Given the description of an element on the screen output the (x, y) to click on. 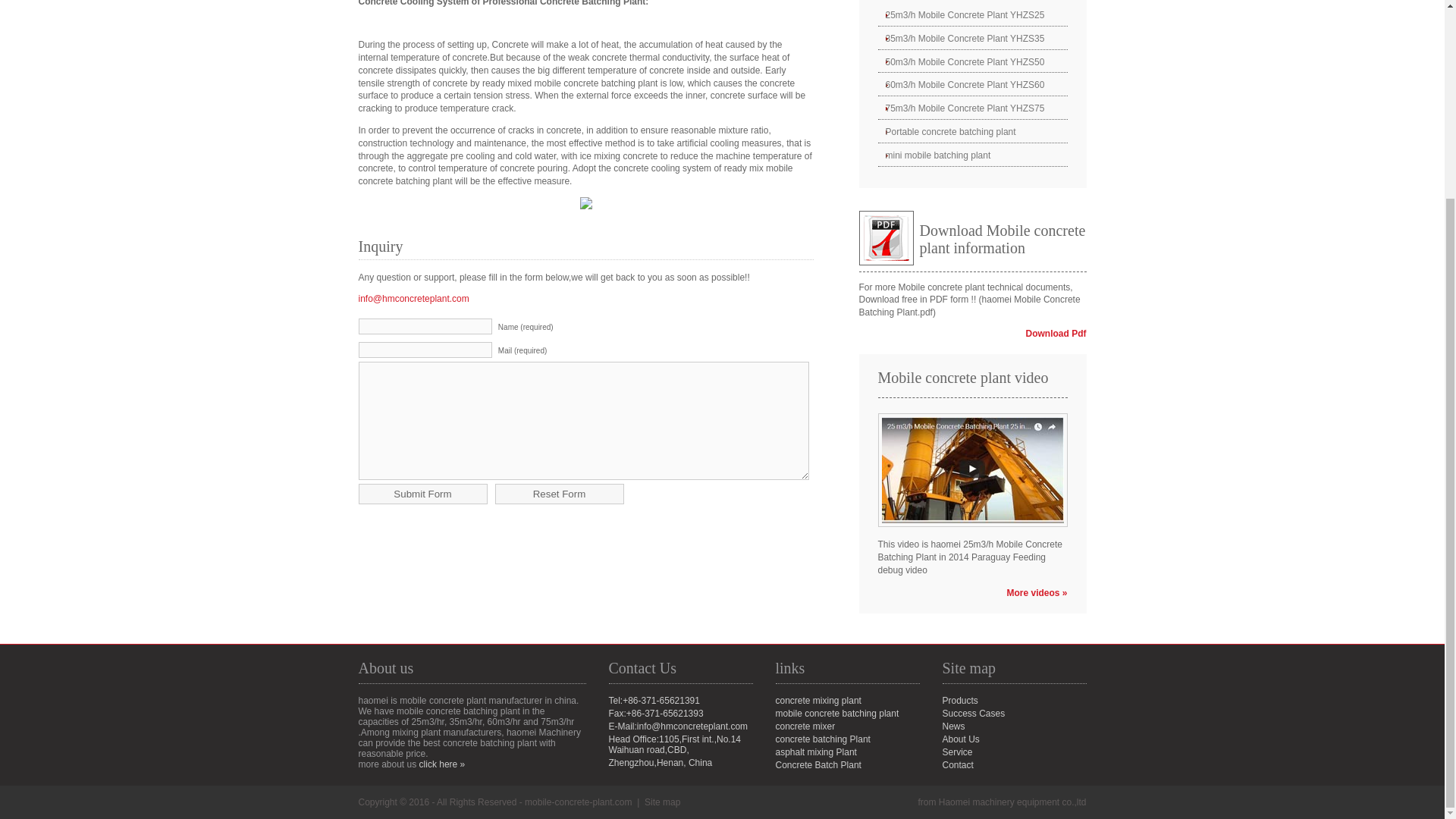
Success Cases (973, 713)
Submit Form (422, 494)
YHZS75 Mobile Concrete Plant (972, 108)
YHZS60 Mobile Concrete Plant (972, 85)
YHZS35 Mobile Concrete Plant (972, 38)
Service (957, 751)
Reset Form (559, 494)
Submit Form (422, 494)
Portable concrete batching plant (972, 132)
Products (959, 700)
